Given the description of an element on the screen output the (x, y) to click on. 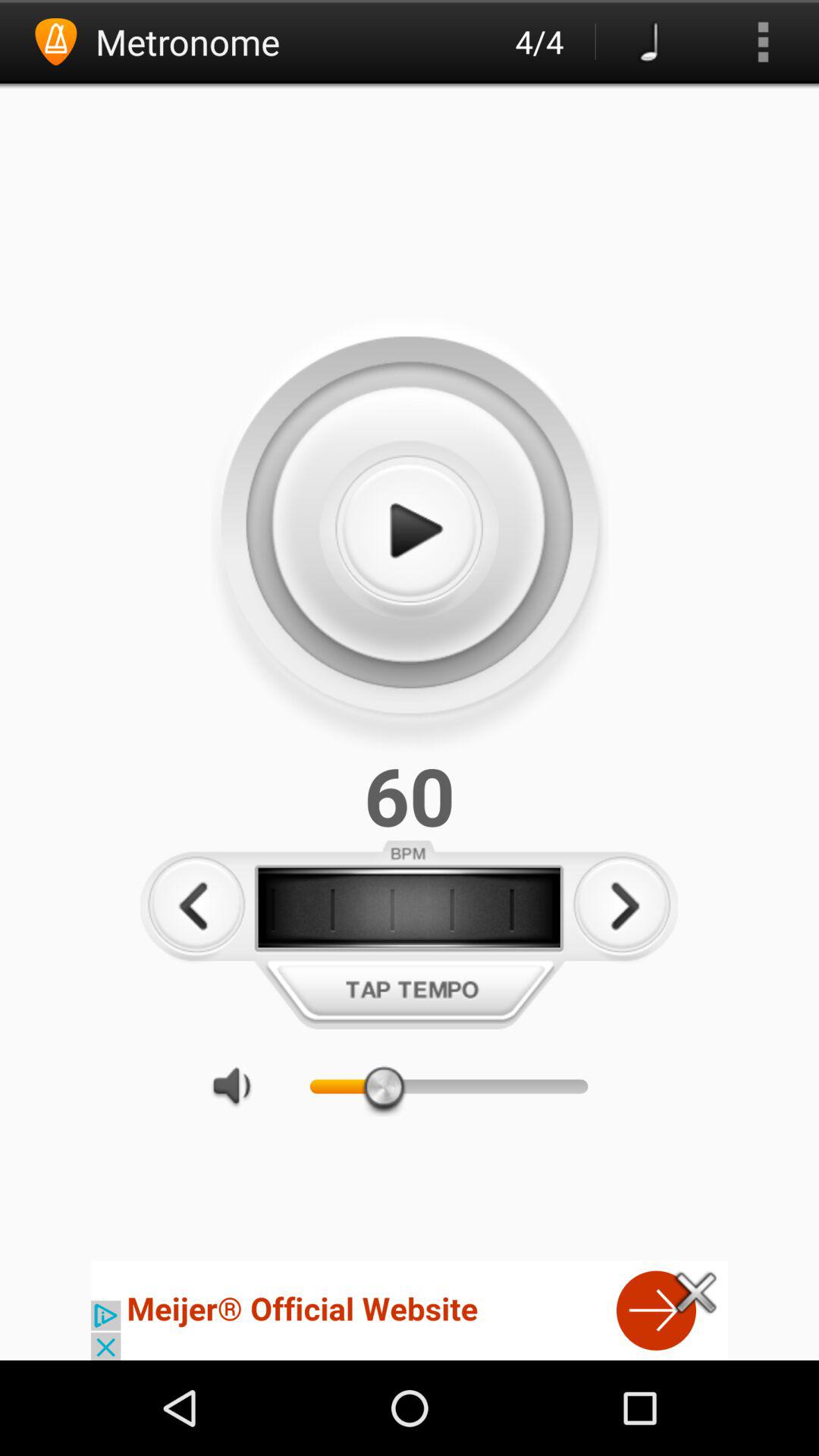
go to previous (196, 906)
